Given the description of an element on the screen output the (x, y) to click on. 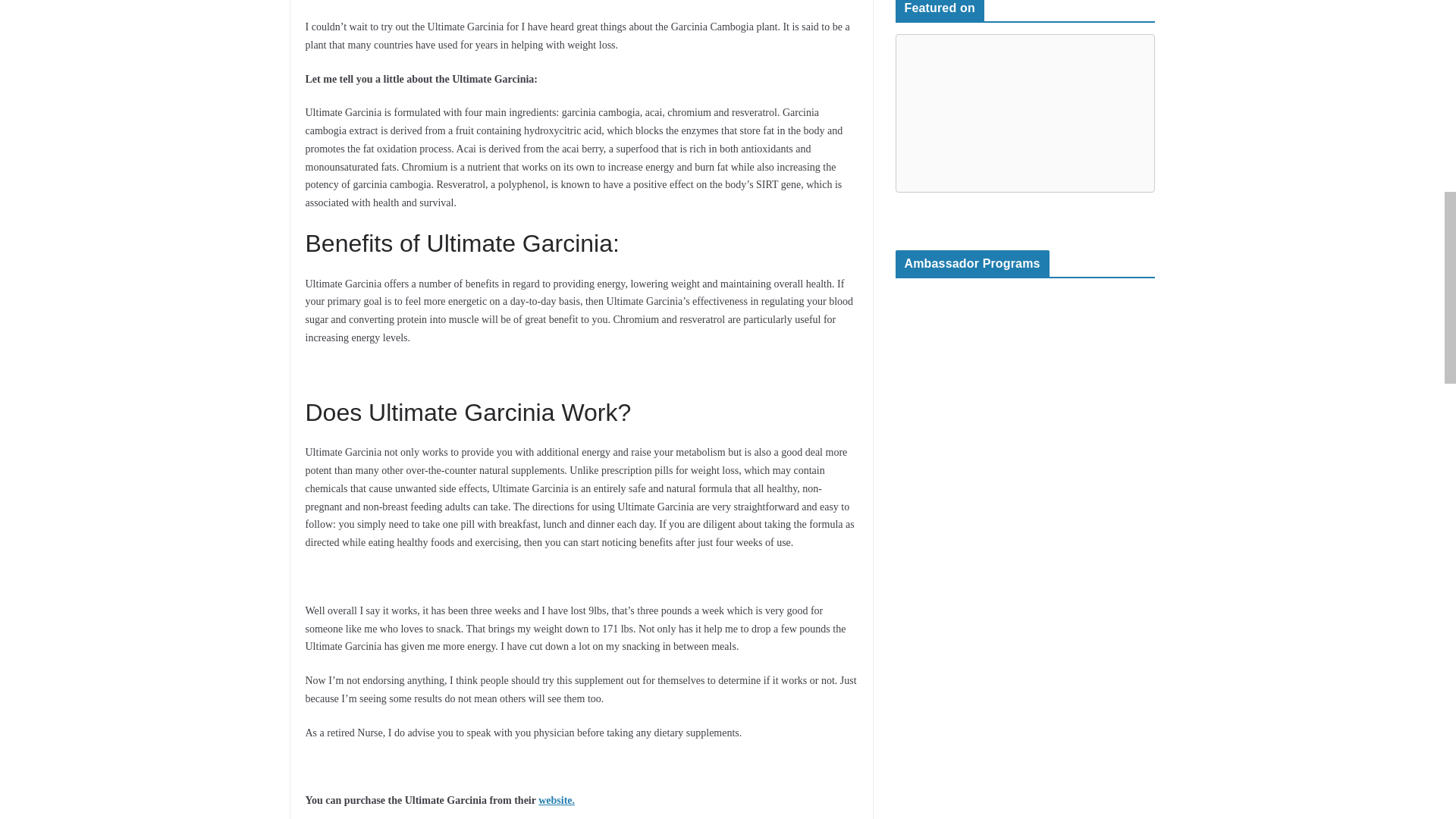
website. (556, 799)
Ultimate Garcinia (556, 799)
